Given the description of an element on the screen output the (x, y) to click on. 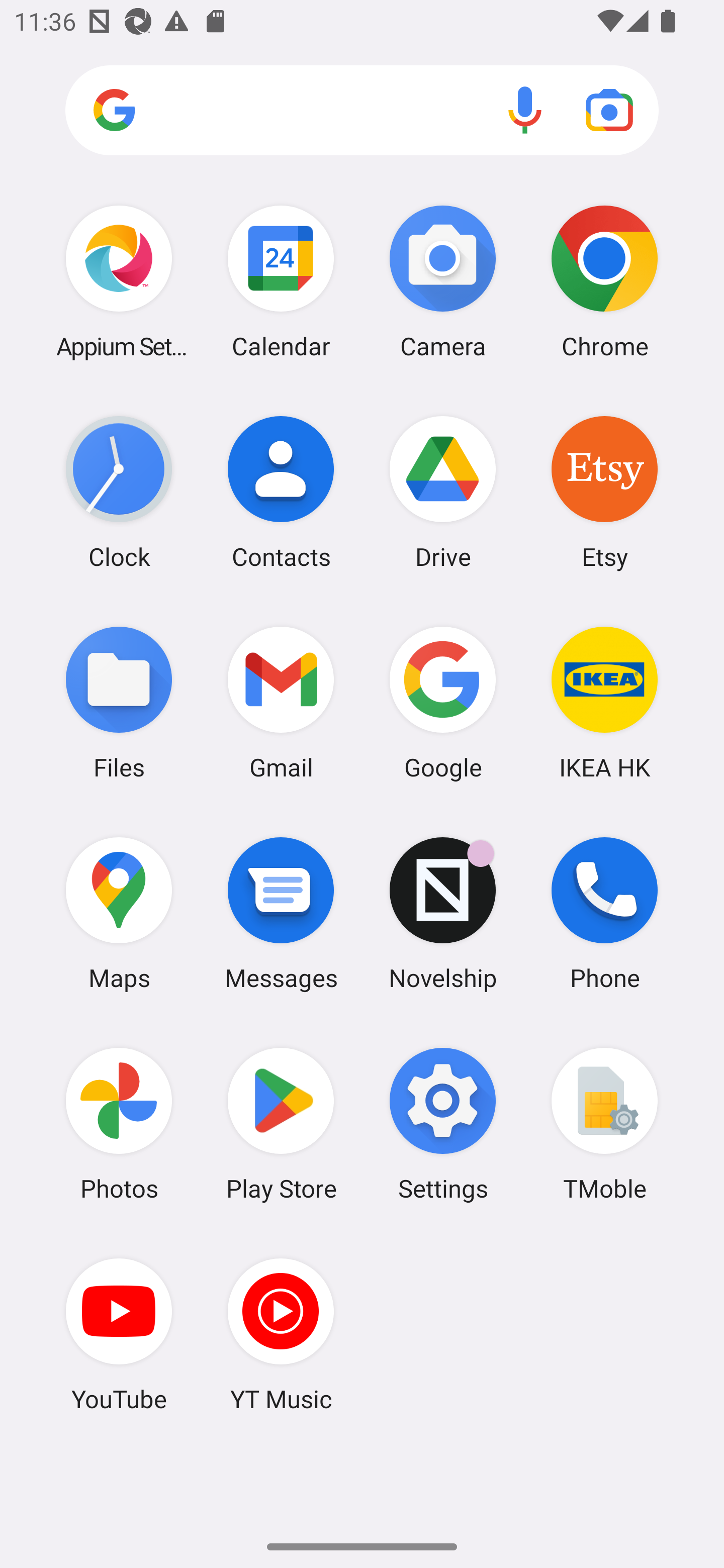
Search apps, web and more (361, 110)
Voice search (524, 109)
Google Lens (608, 109)
Appium Settings (118, 281)
Calendar (280, 281)
Camera (443, 281)
Chrome (604, 281)
Clock (118, 492)
Contacts (280, 492)
Drive (443, 492)
Etsy (604, 492)
Files (118, 702)
Gmail (280, 702)
Google (443, 702)
IKEA HK (604, 702)
Maps (118, 913)
Messages (280, 913)
Novelship Novelship has 2 notifications (443, 913)
Phone (604, 913)
Photos (118, 1124)
Play Store (280, 1124)
Settings (443, 1124)
TMoble (604, 1124)
YouTube (118, 1334)
YT Music (280, 1334)
